Given the description of an element on the screen output the (x, y) to click on. 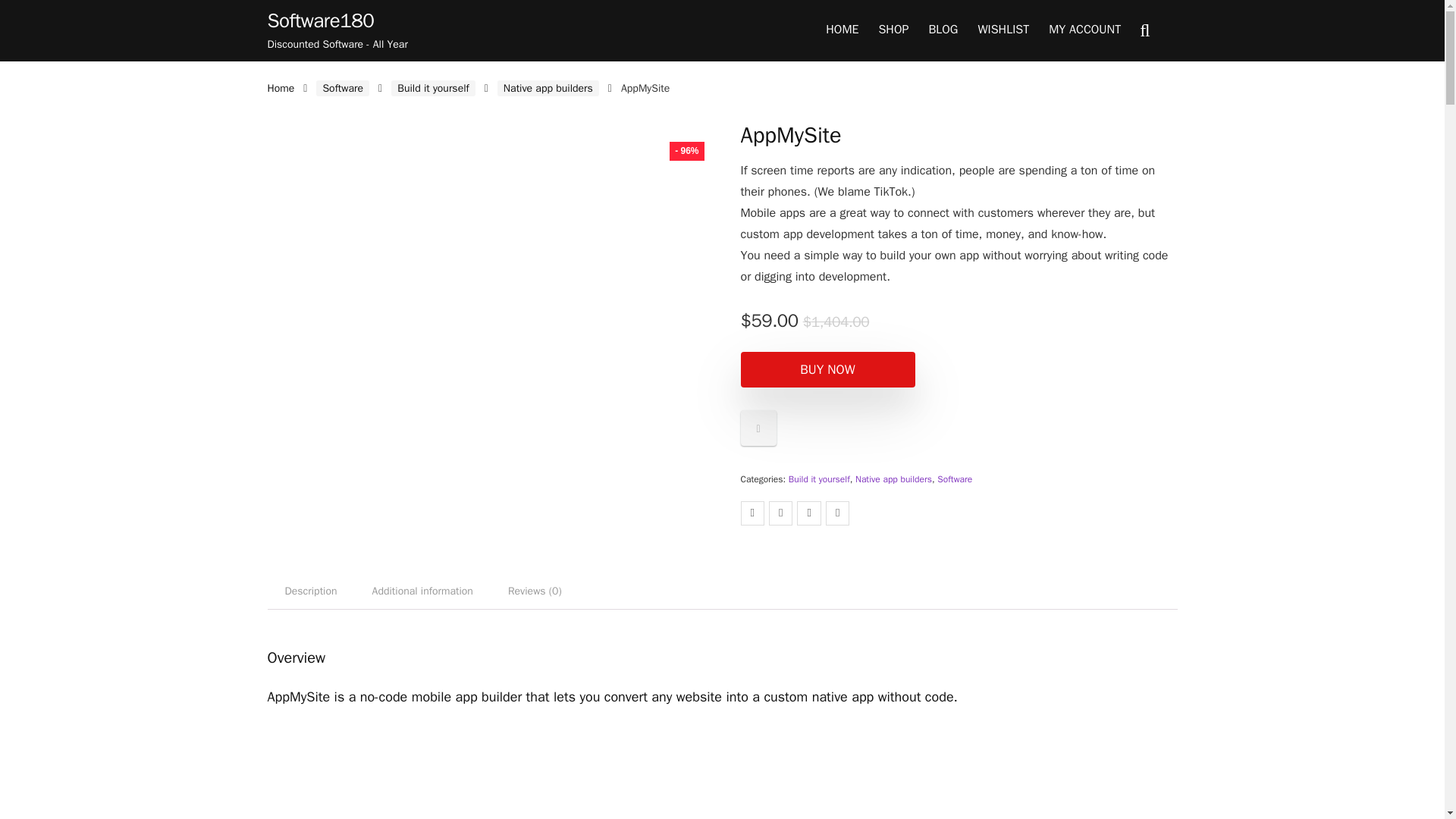
WISHLIST (1003, 30)
Native app builders (547, 88)
BUY NOW (826, 369)
Native app builders (893, 479)
HOME (841, 30)
SHOP (892, 30)
Description (309, 591)
Home (280, 88)
Build it yourself (819, 479)
MY ACCOUNT (1085, 30)
